Given the description of an element on the screen output the (x, y) to click on. 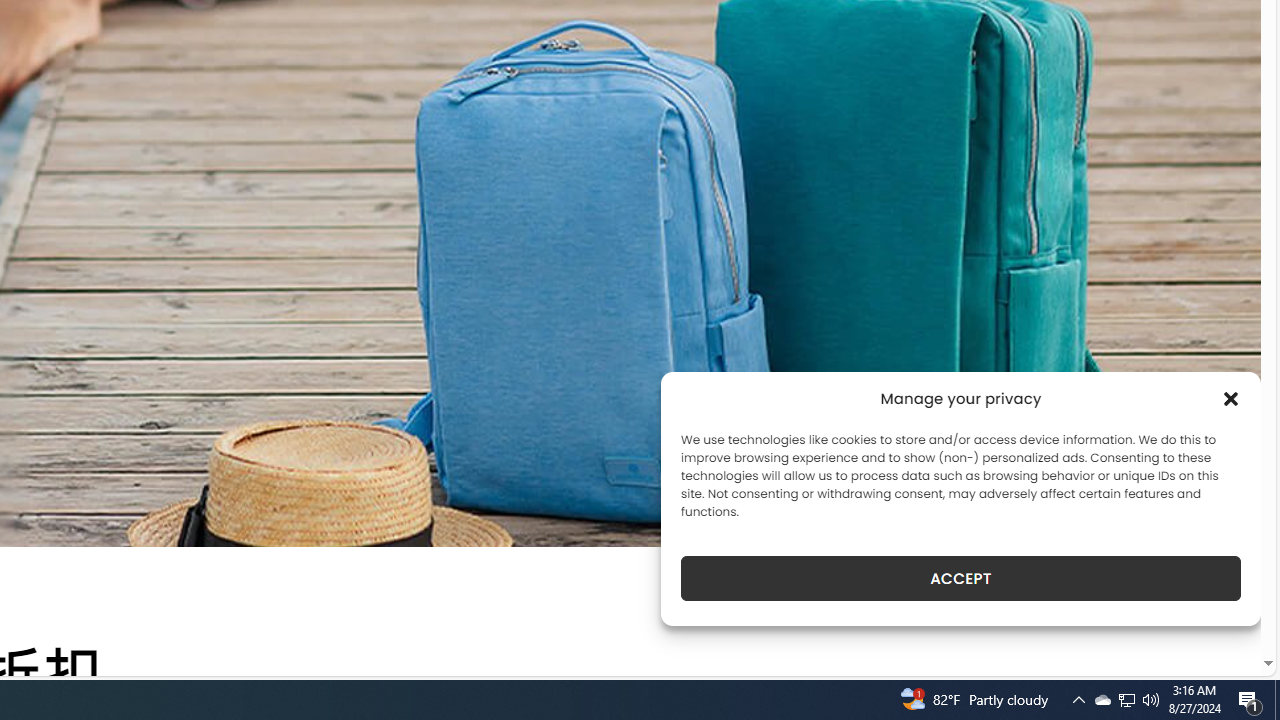
Class: cmplz-close (1231, 398)
ACCEPT (960, 578)
